Given the description of an element on the screen output the (x, y) to click on. 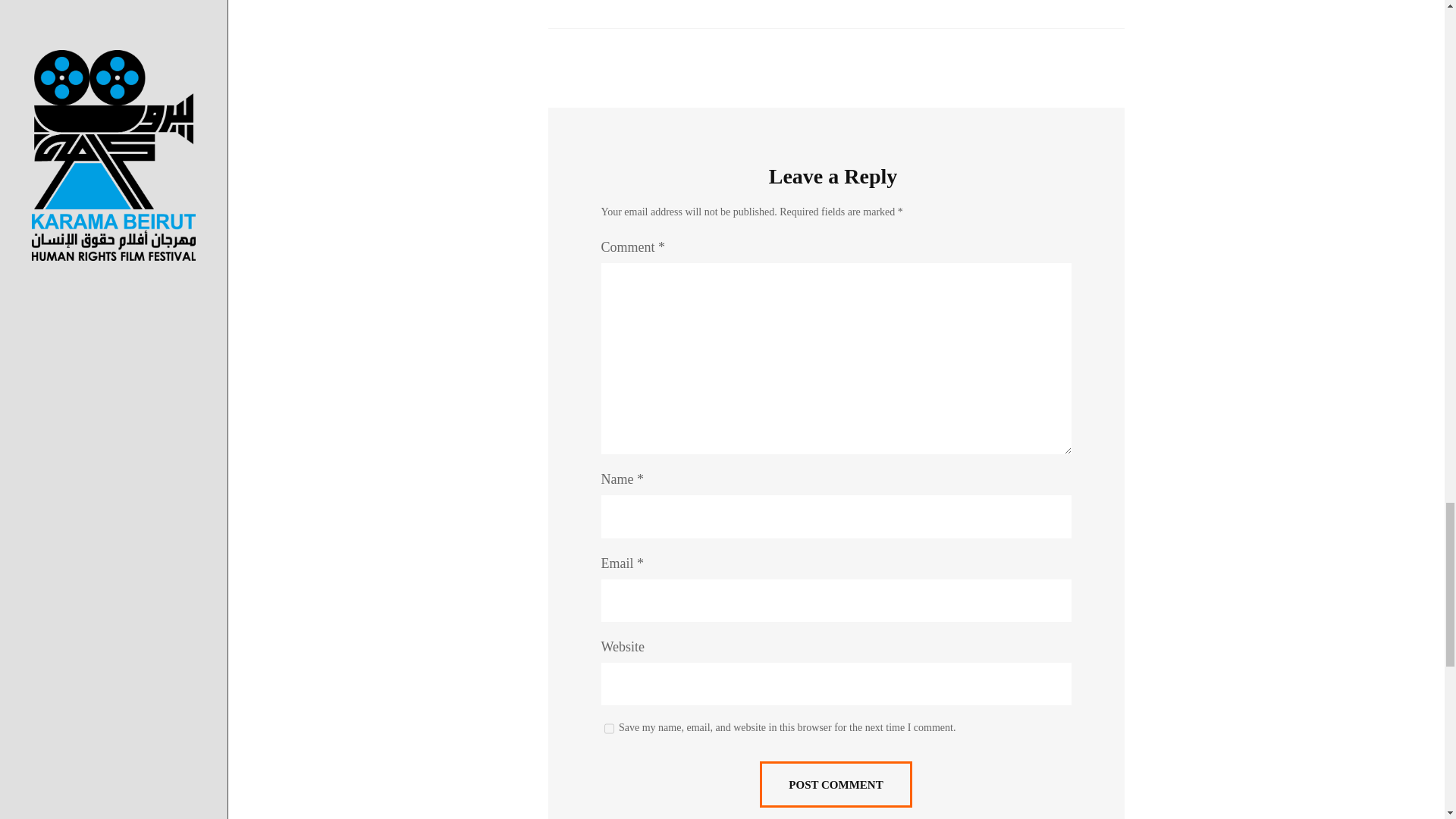
Post Comment (836, 784)
Post Comment (836, 784)
